Given the description of an element on the screen output the (x, y) to click on. 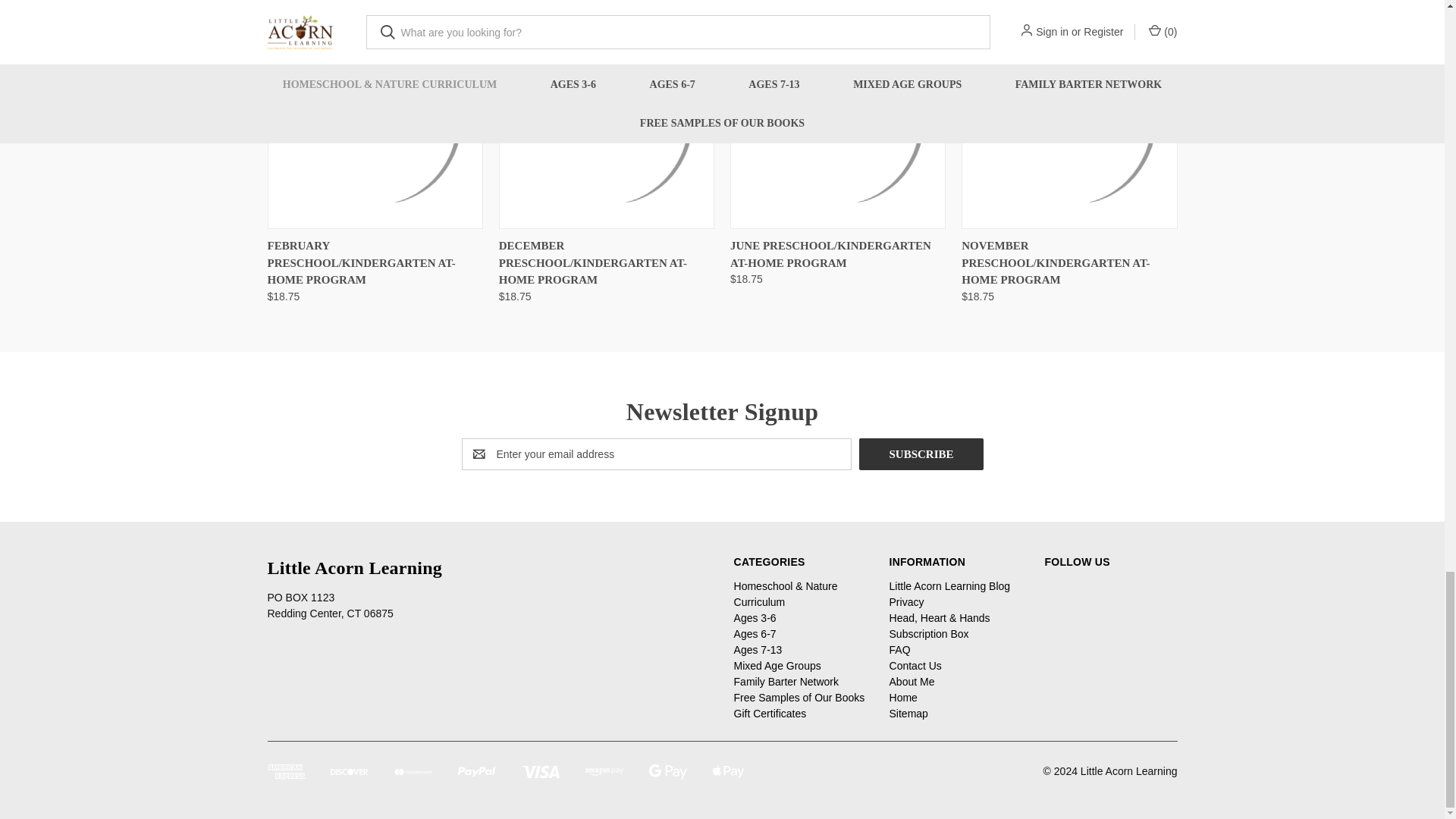
Subscribe (920, 454)
